Given the description of an element on the screen output the (x, y) to click on. 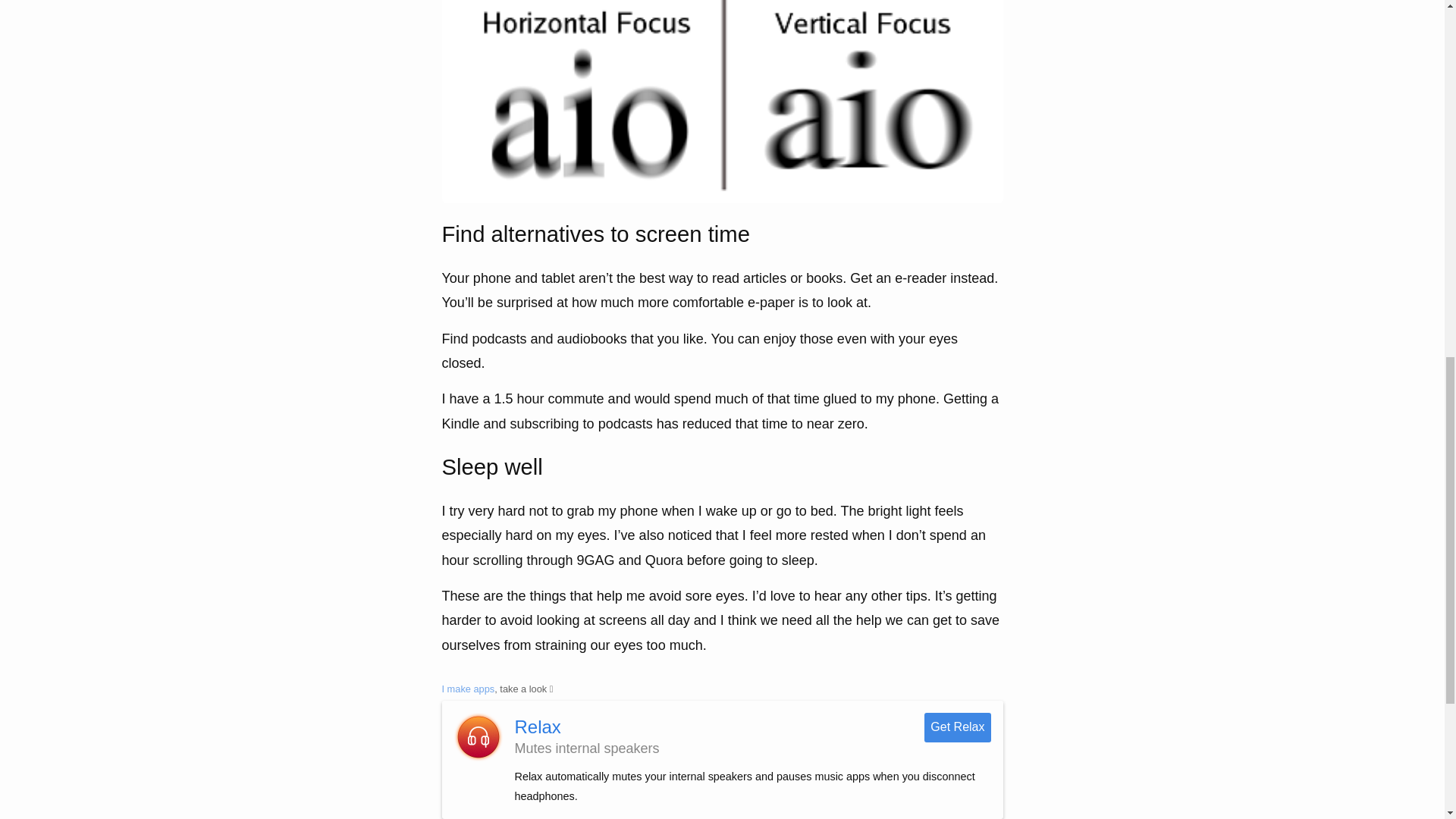
I make apps (468, 688)
Relax (536, 726)
Get Relax (957, 727)
